Given the description of an element on the screen output the (x, y) to click on. 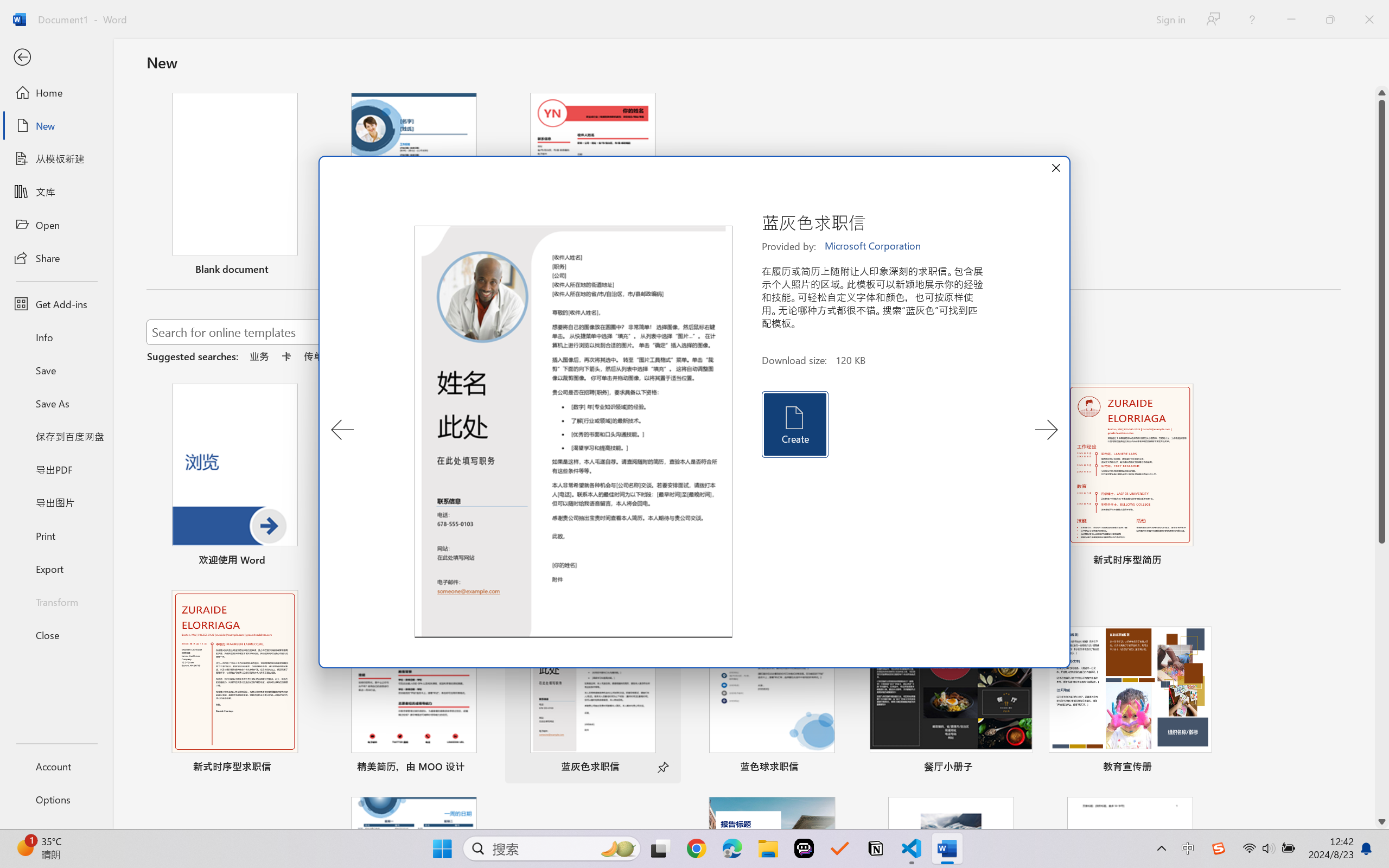
Expand (929, 527)
More info about this content rating (544, 409)
Scroll Next (804, 597)
Open account menu (1360, 71)
Add to wishlist (545, 448)
Screenshot image (774, 596)
Install (392, 448)
Currencies - Google Finance (276, 12)
Google (731, 12)
